Given the description of an element on the screen output the (x, y) to click on. 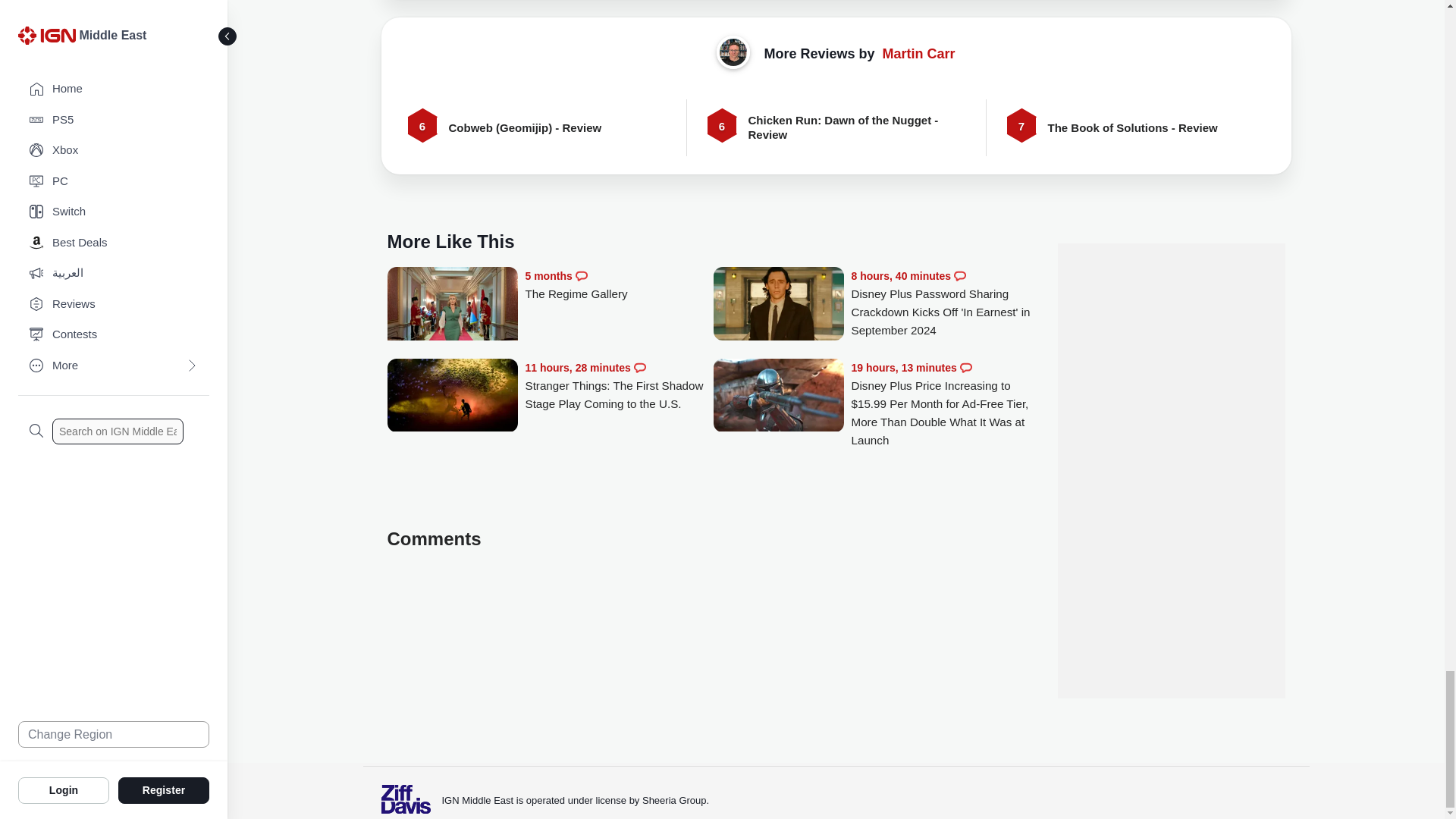
Comments (959, 275)
The Regime Gallery (618, 284)
Comments (581, 275)
The Regime Gallery (451, 311)
Comments (639, 367)
